Given the description of an element on the screen output the (x, y) to click on. 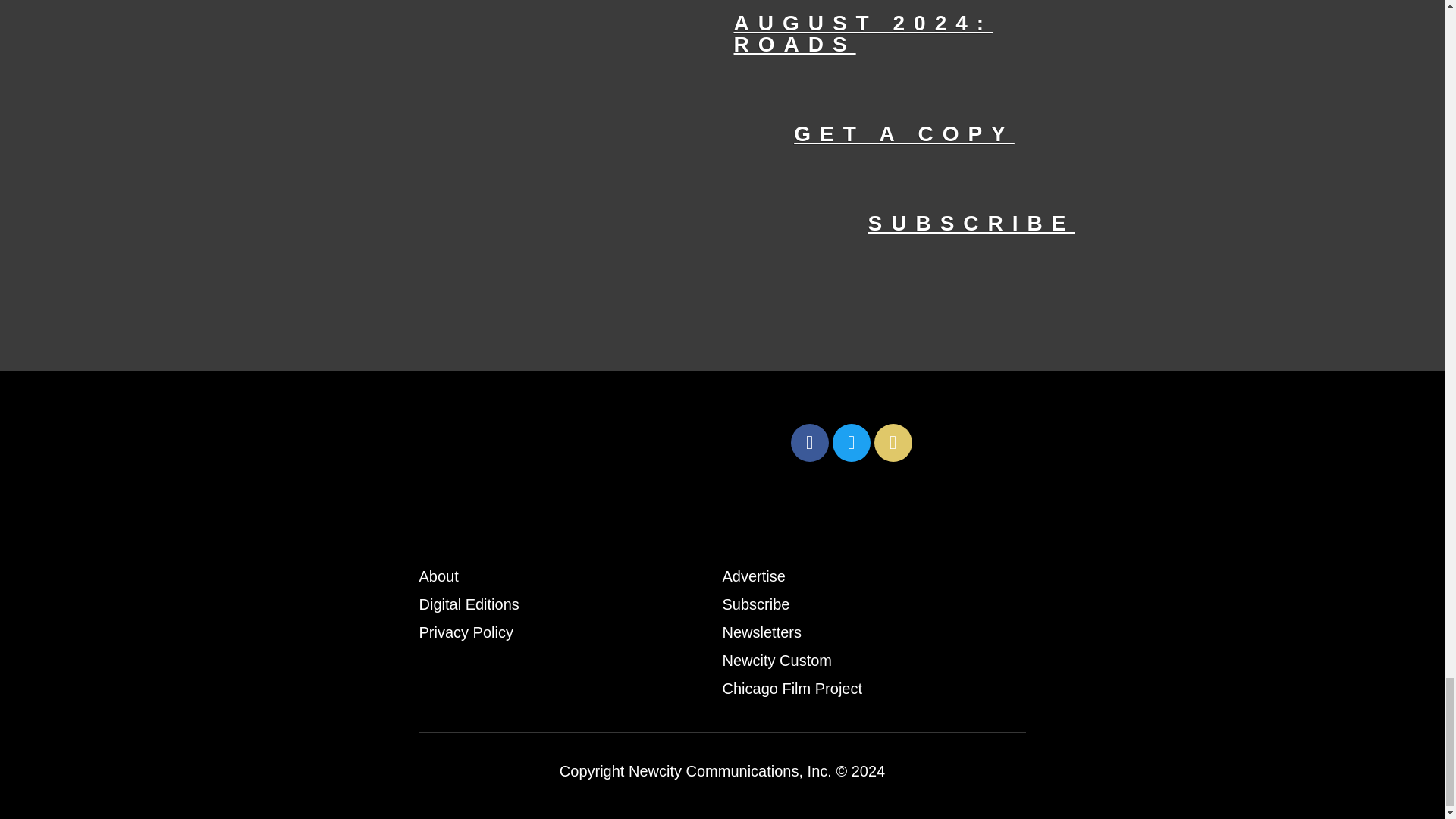
NewcityLogo.png (600, 442)
